Given the description of an element on the screen output the (x, y) to click on. 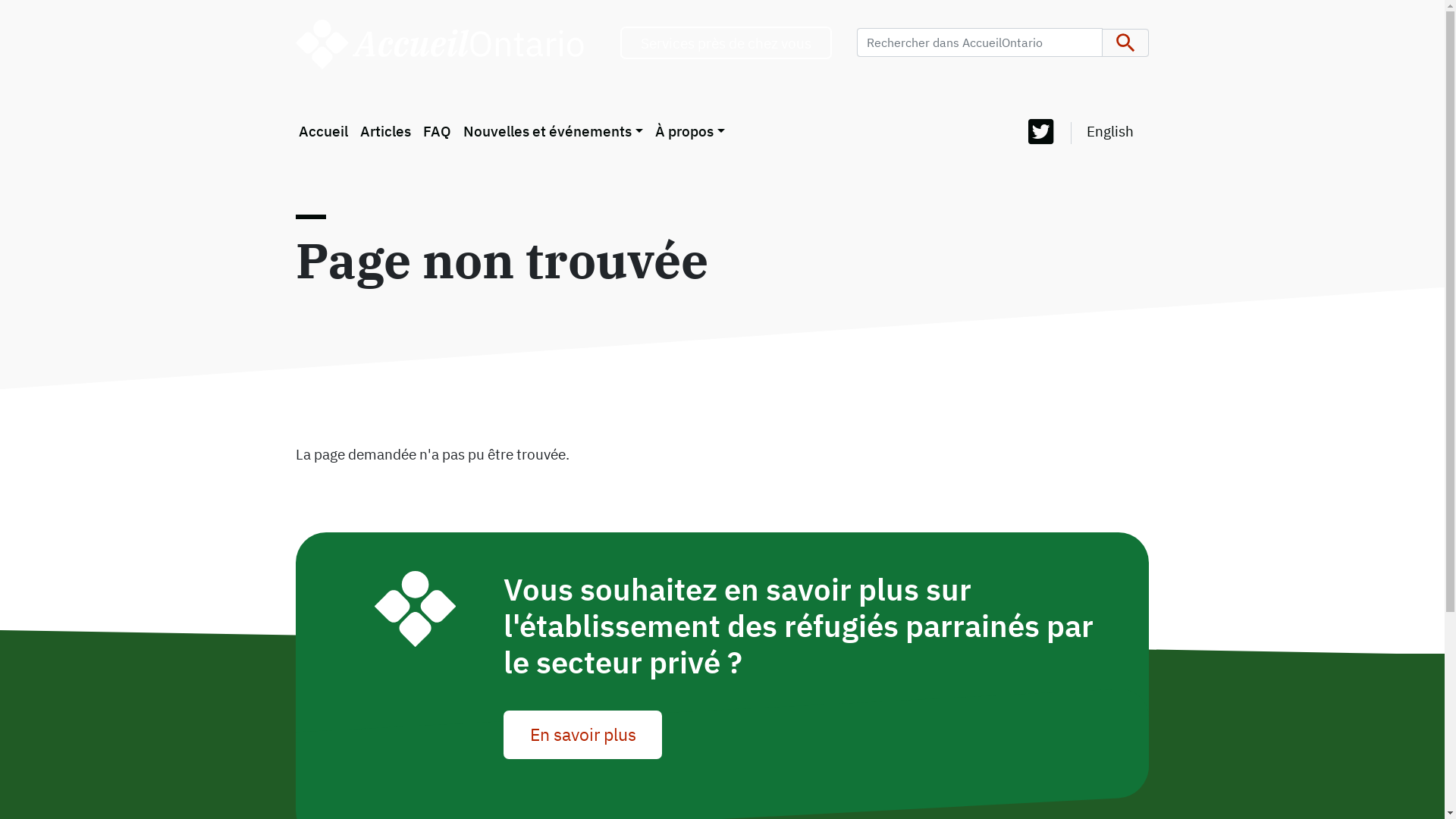
FAQ Element type: text (437, 131)
Twitter Element type: text (1041, 132)
Accueil Element type: hover (445, 42)
Articles Element type: text (385, 131)
En savoir plus Element type: text (582, 734)
English Element type: text (1109, 130)
Accueil Element type: text (323, 131)
Apply Element type: text (1124, 42)
